Given the description of an element on the screen output the (x, y) to click on. 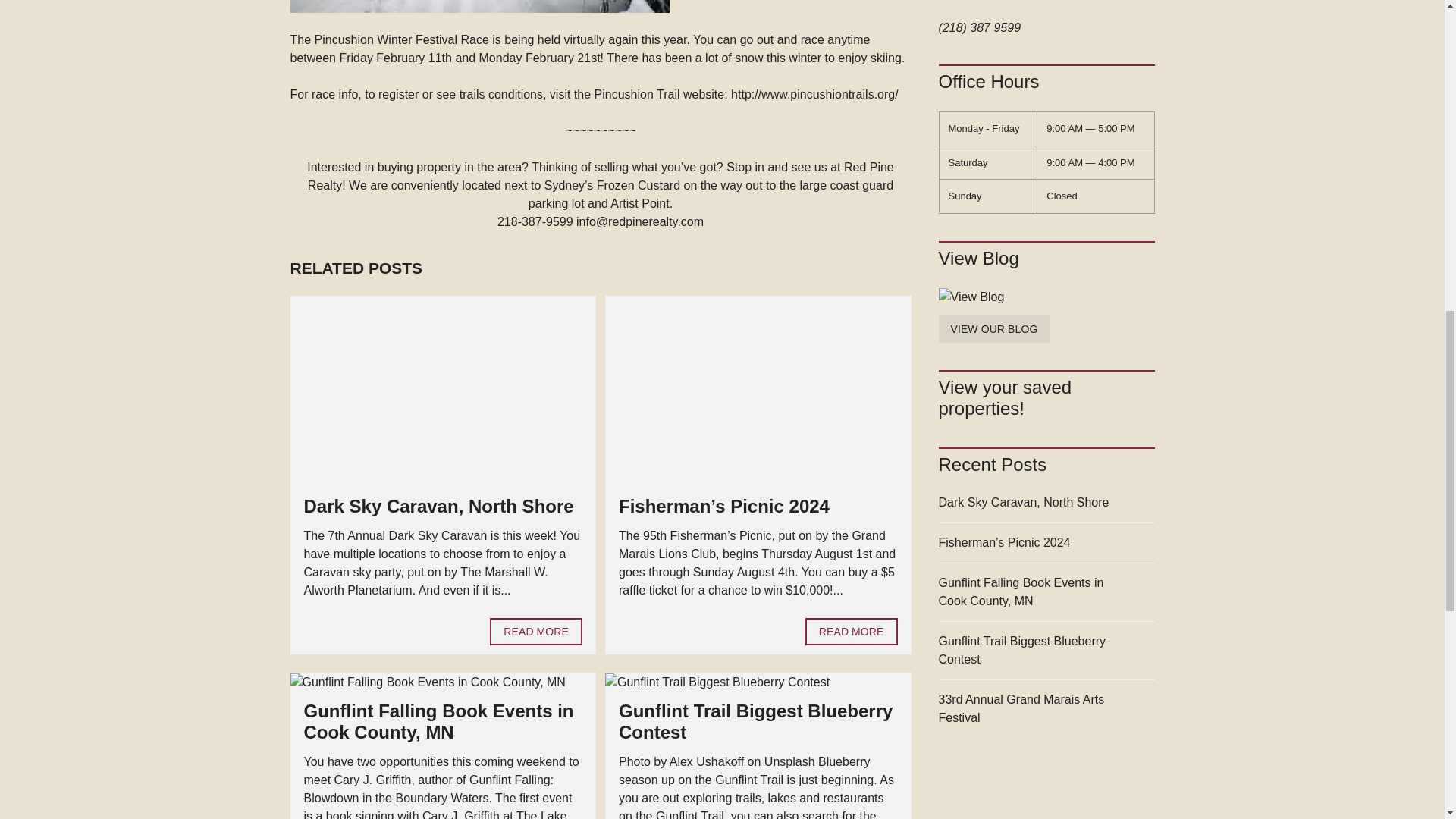
View Blog (994, 329)
Pincushion Virtual Ski Race, Grand Marais (478, 6)
Gunflint Falling Book Events in Cook County, MN (437, 721)
Dark Sky Caravan, North Shore (437, 506)
Gunflint Trail Biggest Blueberry Contest (755, 721)
Dark Sky Caravan, North Shore (535, 631)
View Blog (1046, 297)
